Given the description of an element on the screen output the (x, y) to click on. 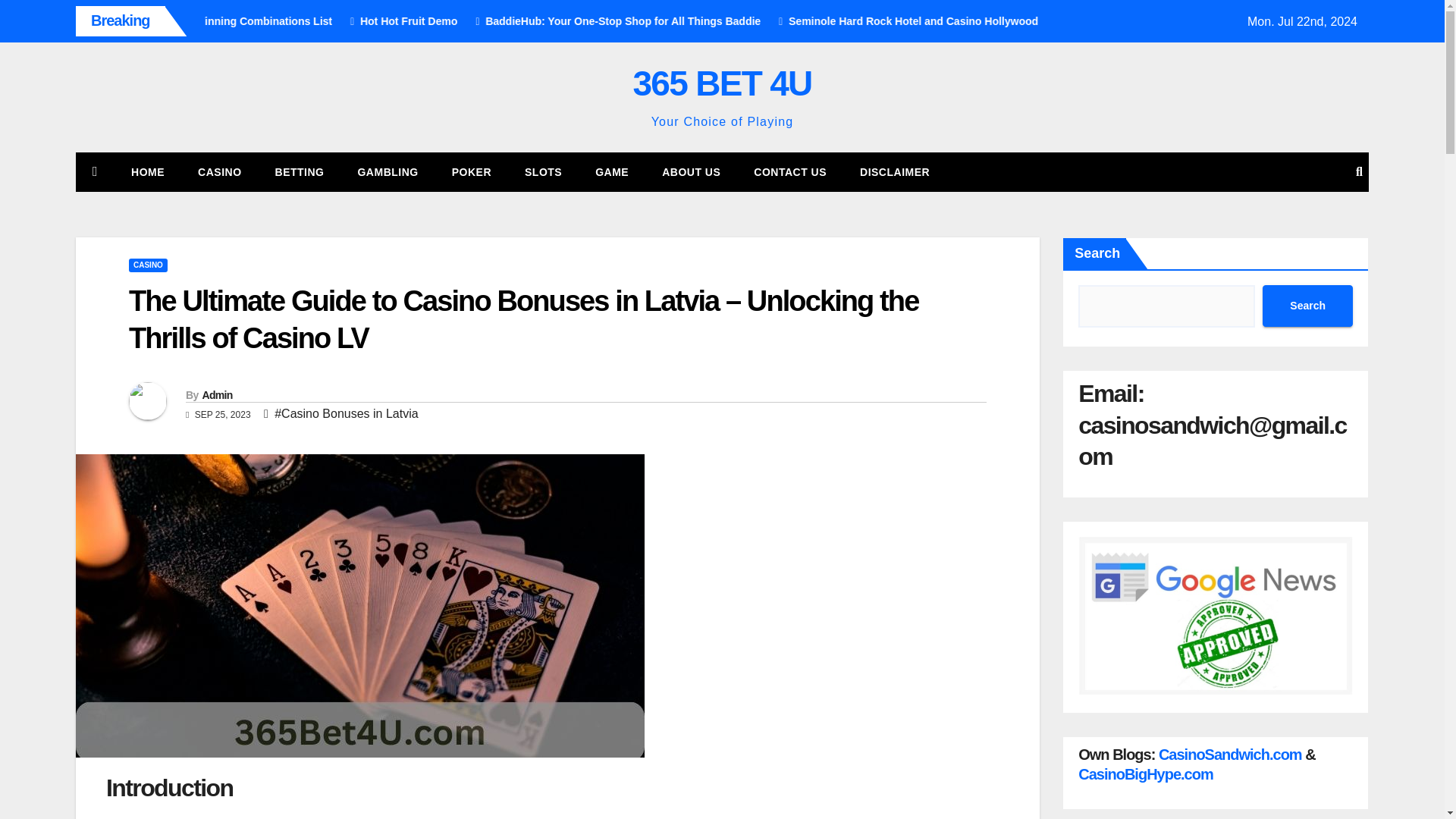
Disclaimer (894, 171)
DISCLAIMER (894, 171)
Poker (471, 171)
SLOTS (543, 171)
Slots (543, 171)
Admin (216, 395)
Casino (218, 171)
Hot Hot Fruit Demo (555, 21)
Game (611, 171)
Betting (299, 171)
ABOUT US (690, 171)
BaddieHub: Your One-Stop Shop for All Things Baddie (769, 21)
Home (147, 171)
CASINO (218, 171)
Seminole Hard Rock Hotel and Casino Hollywood (1059, 21)
